Given the description of an element on the screen output the (x, y) to click on. 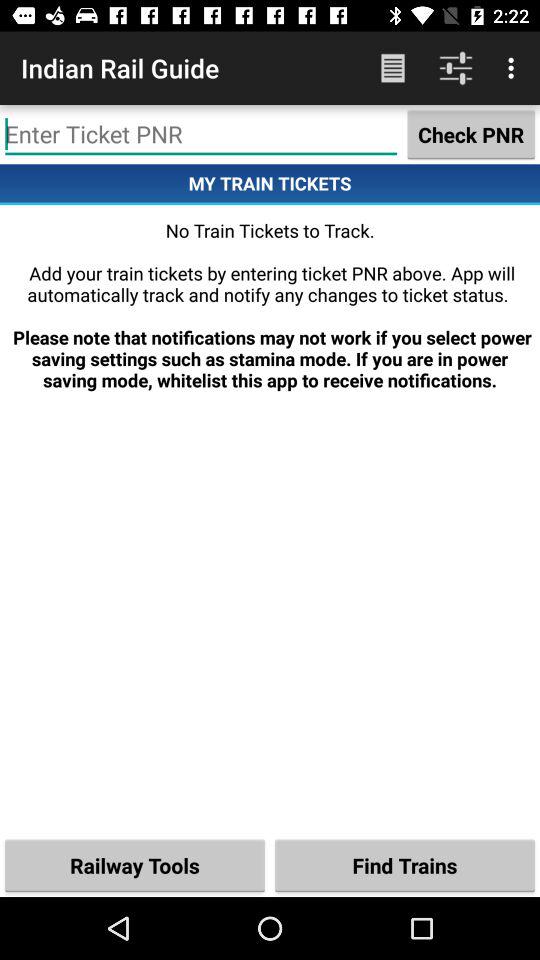
tap item at the bottom right corner (405, 864)
